Given the description of an element on the screen output the (x, y) to click on. 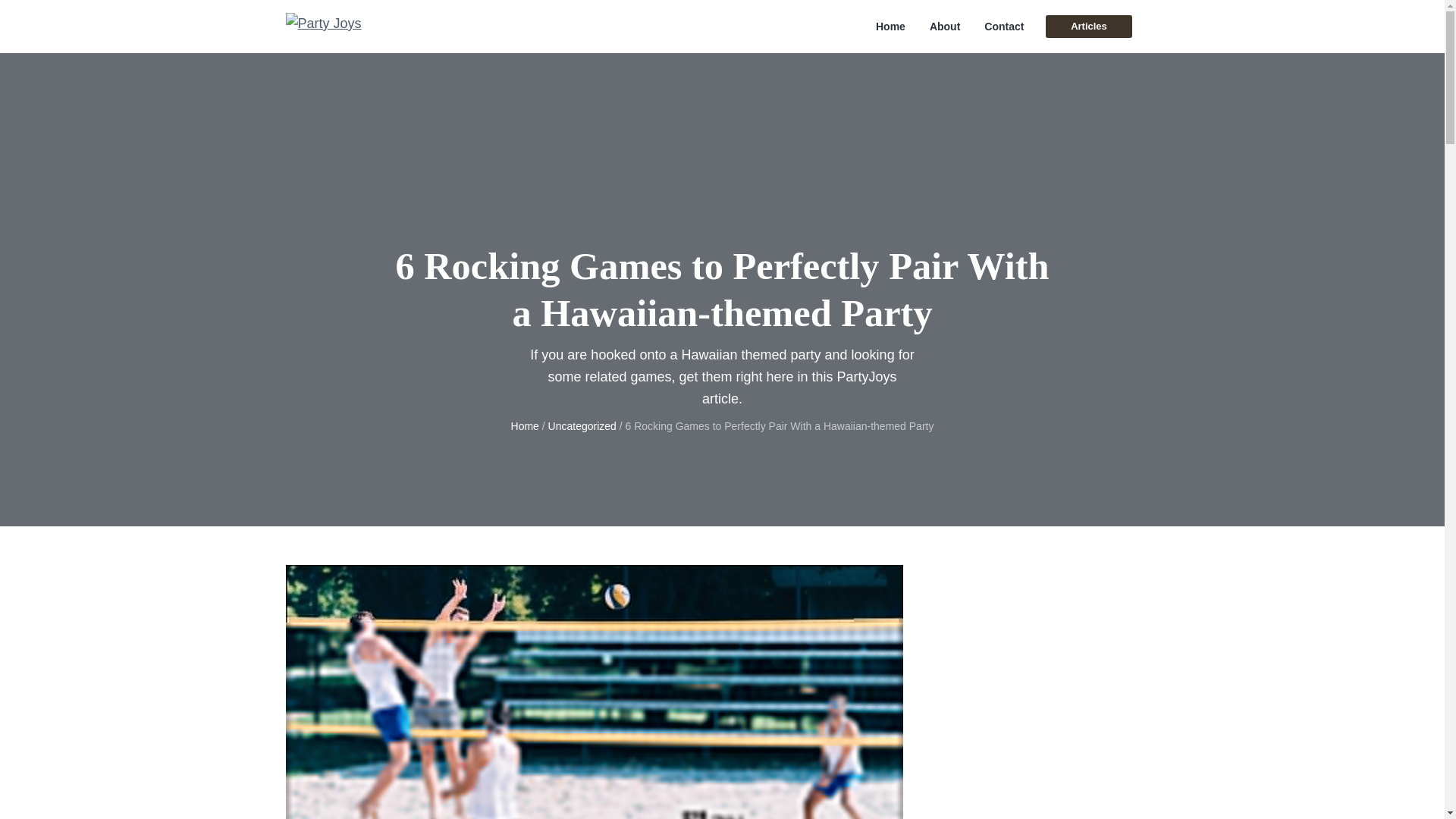
Articles (1087, 25)
About (944, 27)
Home (890, 27)
Search (60, 18)
Home (524, 426)
Contact (1003, 27)
Uncategorized (581, 426)
